Given the description of an element on the screen output the (x, y) to click on. 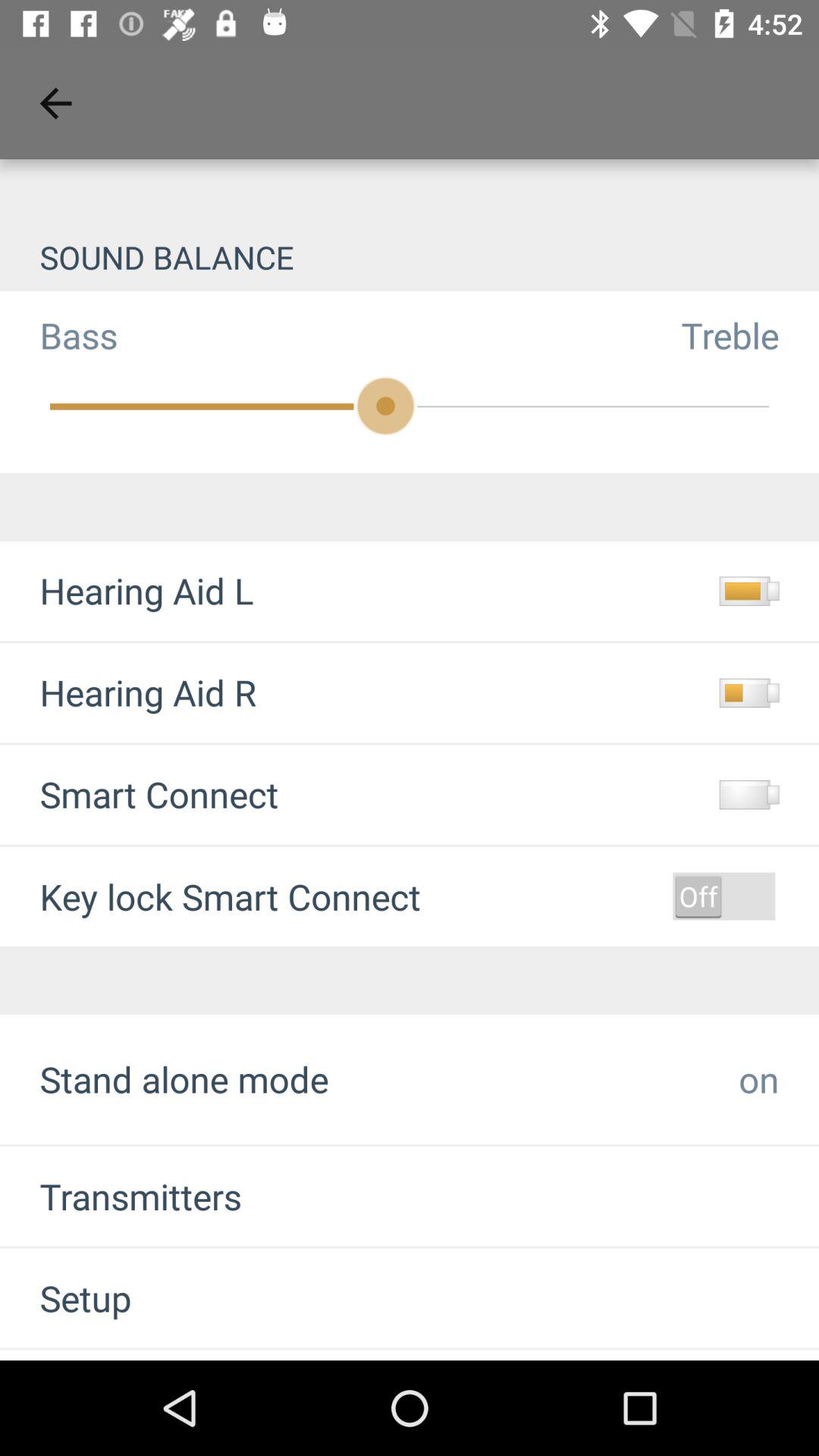
flip until setup item (65, 1297)
